Given the description of an element on the screen output the (x, y) to click on. 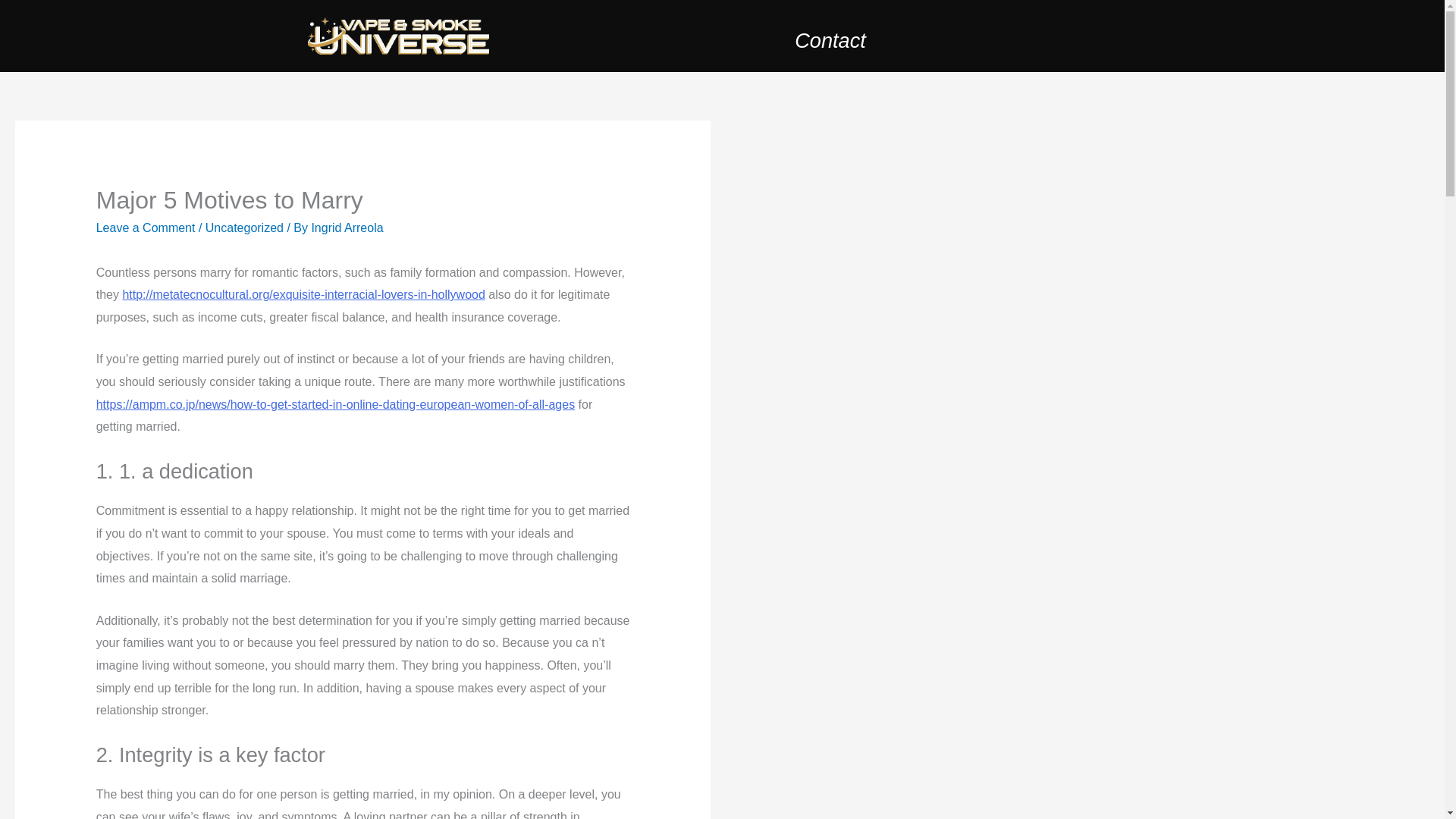
View all posts by Ingrid Arreola (346, 227)
Leave a Comment (145, 227)
Contact (830, 40)
Ingrid Arreola (346, 227)
